Given the description of an element on the screen output the (x, y) to click on. 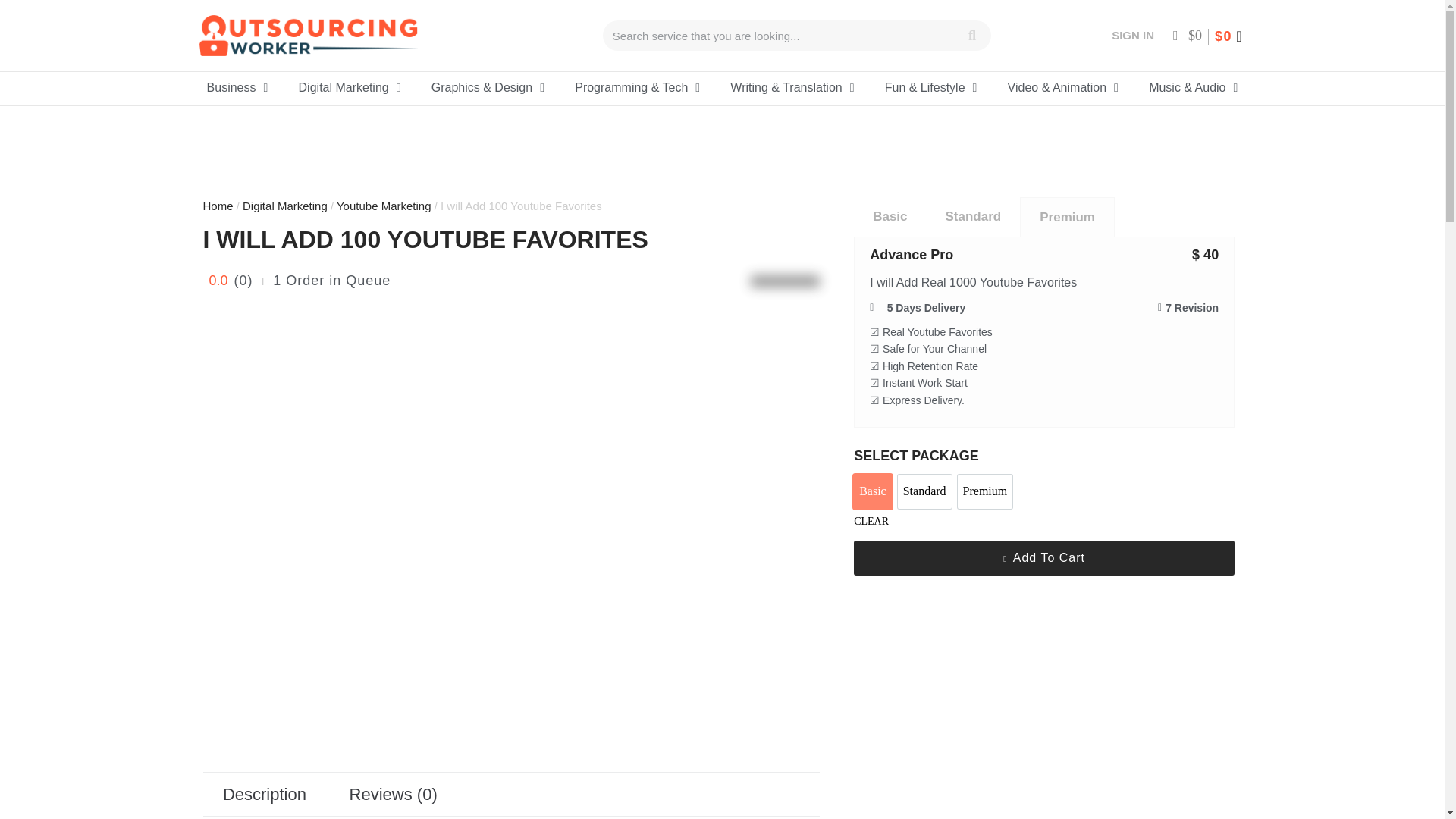
Standard (925, 491)
Current wallet balance (1187, 35)
Basic (872, 491)
Premium (985, 491)
